Given the description of an element on the screen output the (x, y) to click on. 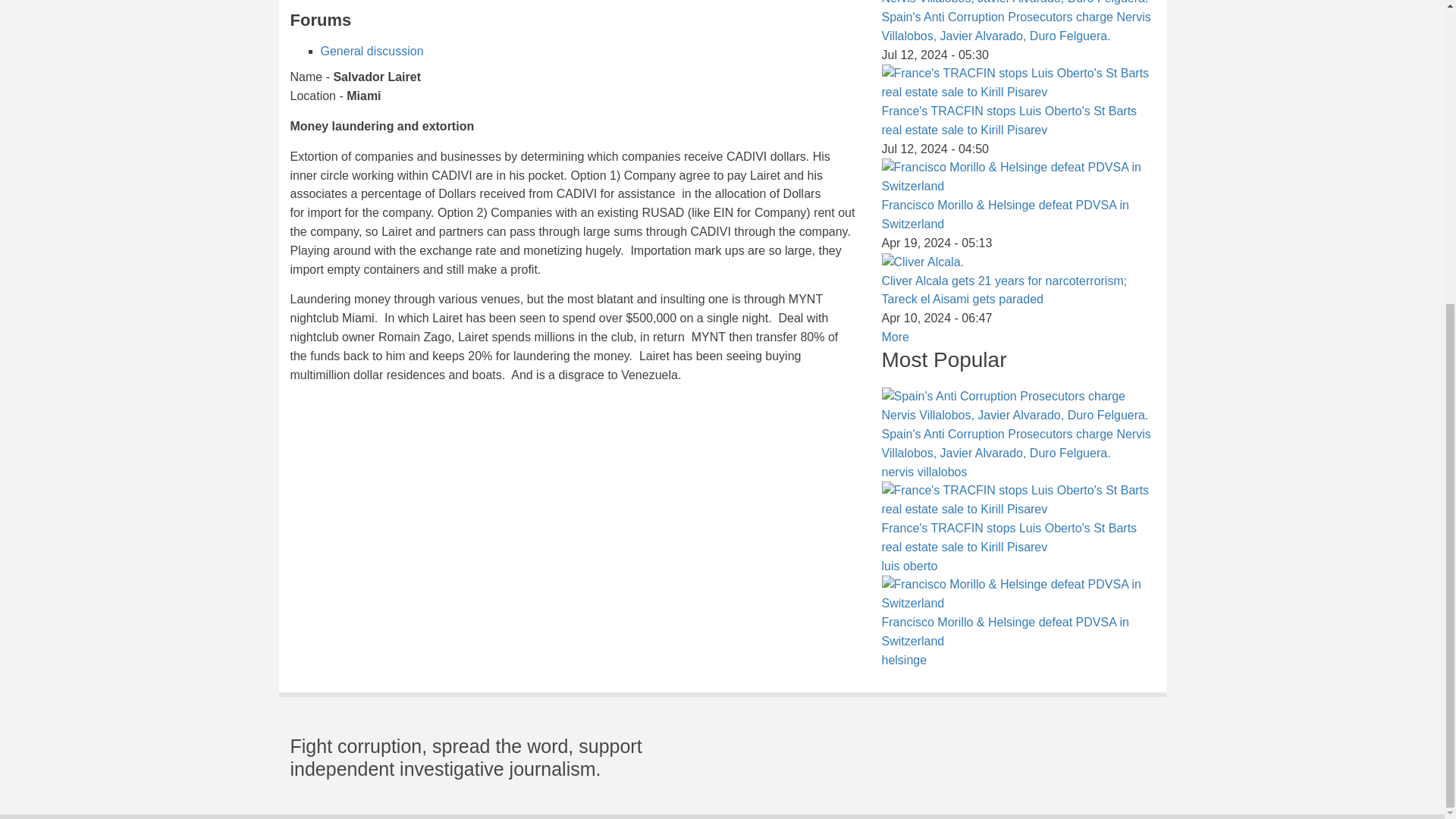
Cliver Alcala. (921, 262)
More (894, 336)
General discussion (371, 51)
